Given the description of an element on the screen output the (x, y) to click on. 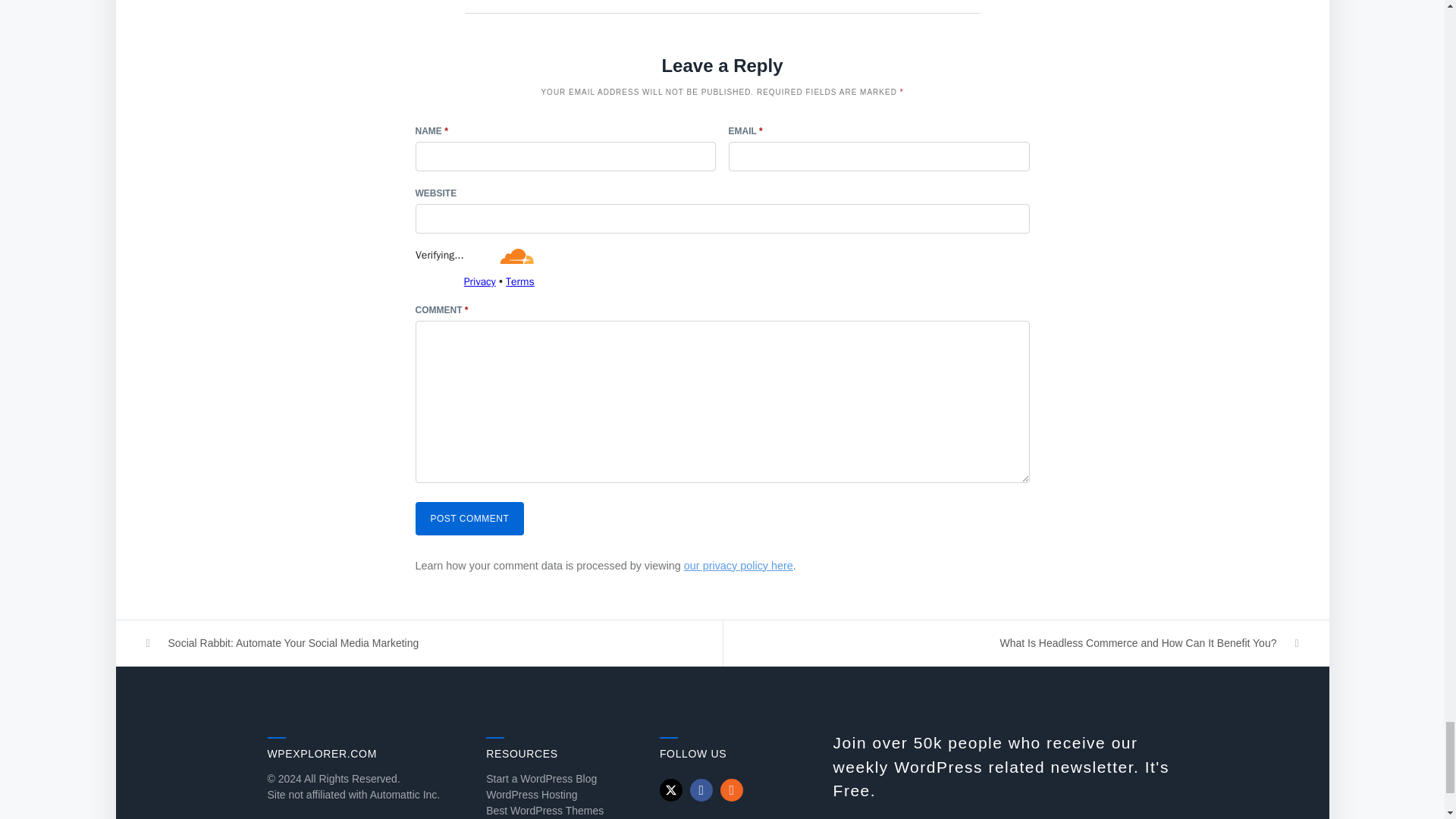
Start a WordPress Blog (541, 778)
our privacy policy here (738, 565)
Follow WPExplorer on Twitter (670, 789)
Post Comment (469, 518)
Like WPExplorer Facebook Page (701, 789)
What Is Headless Commerce and How Can It Benefit You? (1026, 642)
Social Rabbit: Automate Your Social Media Marketing (418, 642)
Subscribe to the WPExplorer Feed (731, 789)
Best WordPress Themes (545, 810)
WordPress Hosting (531, 794)
Post Comment (469, 518)
